Given the description of an element on the screen output the (x, y) to click on. 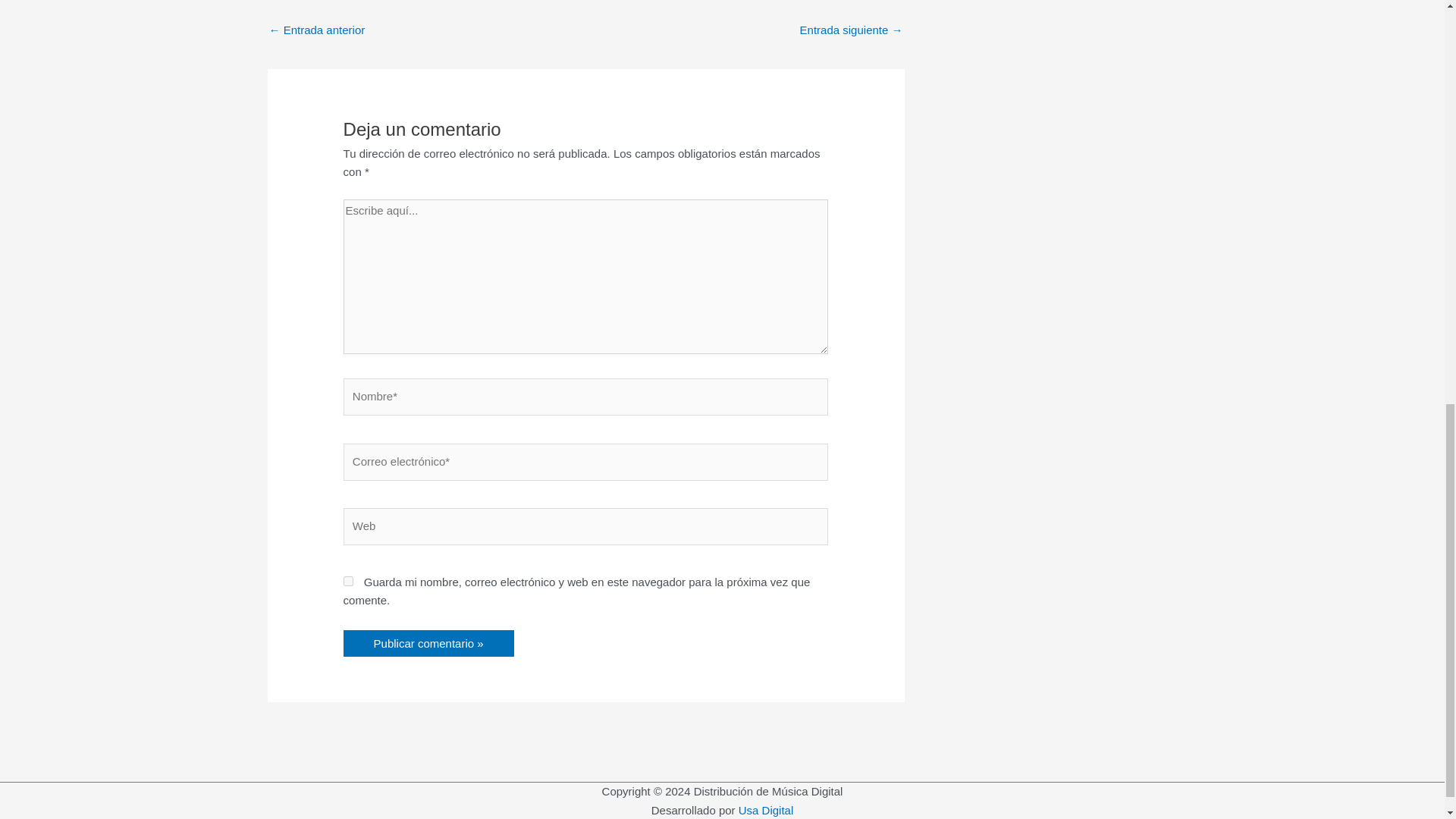
Usa Digital (765, 809)
yes (348, 581)
